Given the description of an element on the screen output the (x, y) to click on. 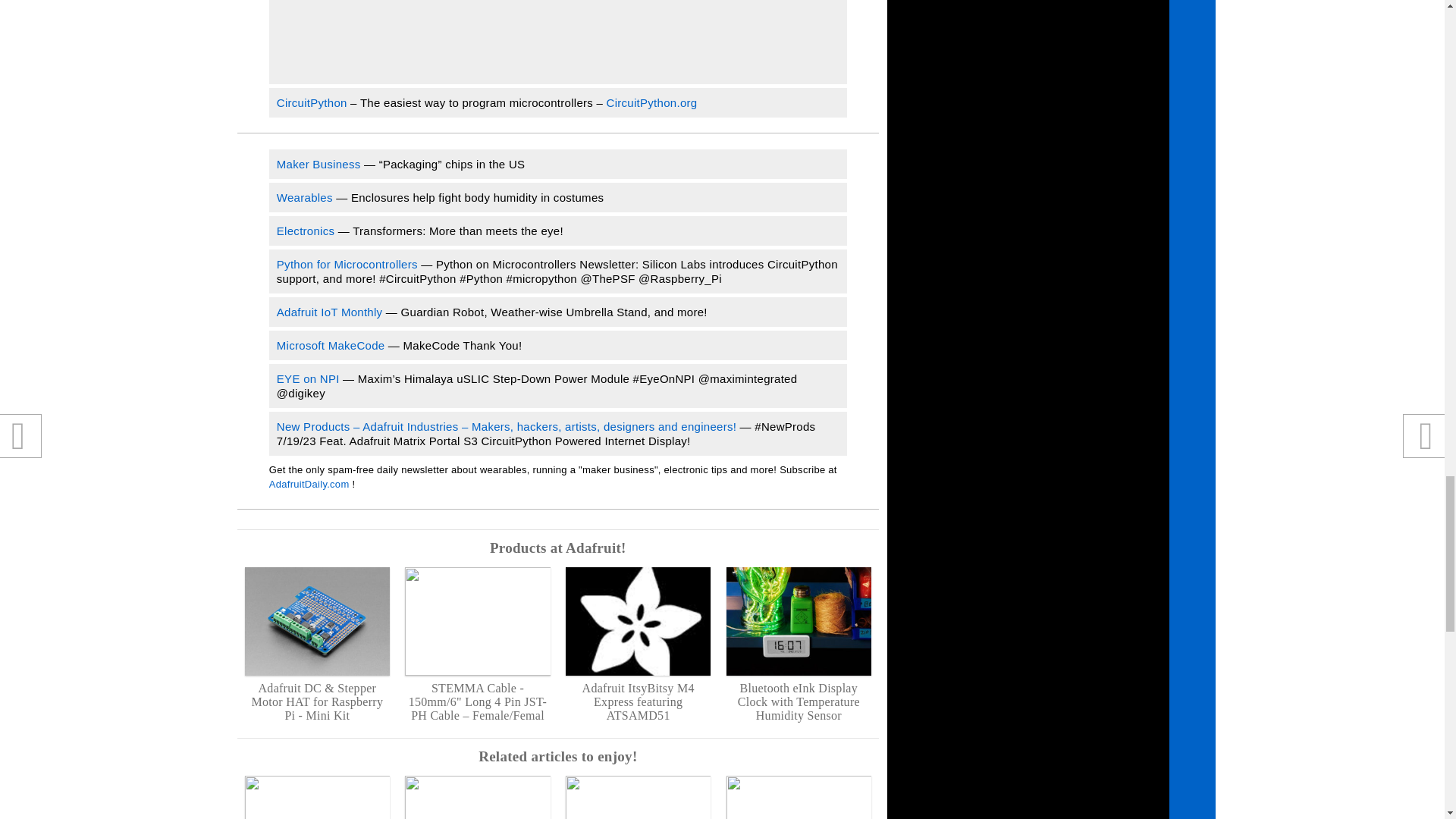
Adafruit ItsyBitsy M4 Express featuring ATSAMD51 (638, 645)
